Given the description of an element on the screen output the (x, y) to click on. 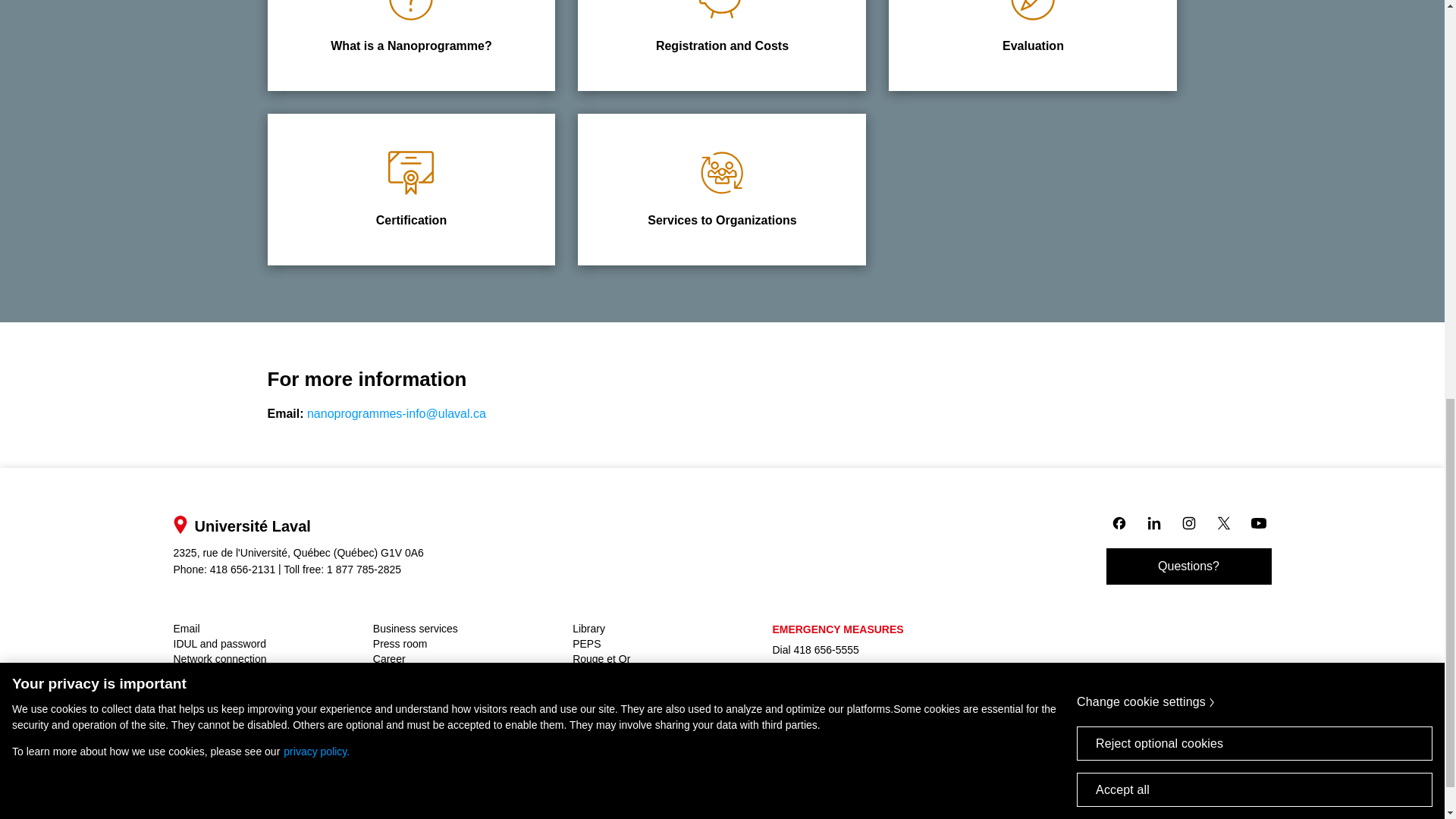
Suivez-nous sur X (1222, 522)
Follow us on Youtube (1257, 522)
Follow us on Instagram (1187, 522)
1 877 785-2825 (363, 569)
Follow us on LinkedIn (1153, 522)
Reconnaissance (410, 189)
Follow us on Facebook (410, 172)
418 656-2131 (1118, 522)
Evaluation (242, 569)
What is a Nanoprogramme? (1032, 45)
